Given the description of an element on the screen output the (x, y) to click on. 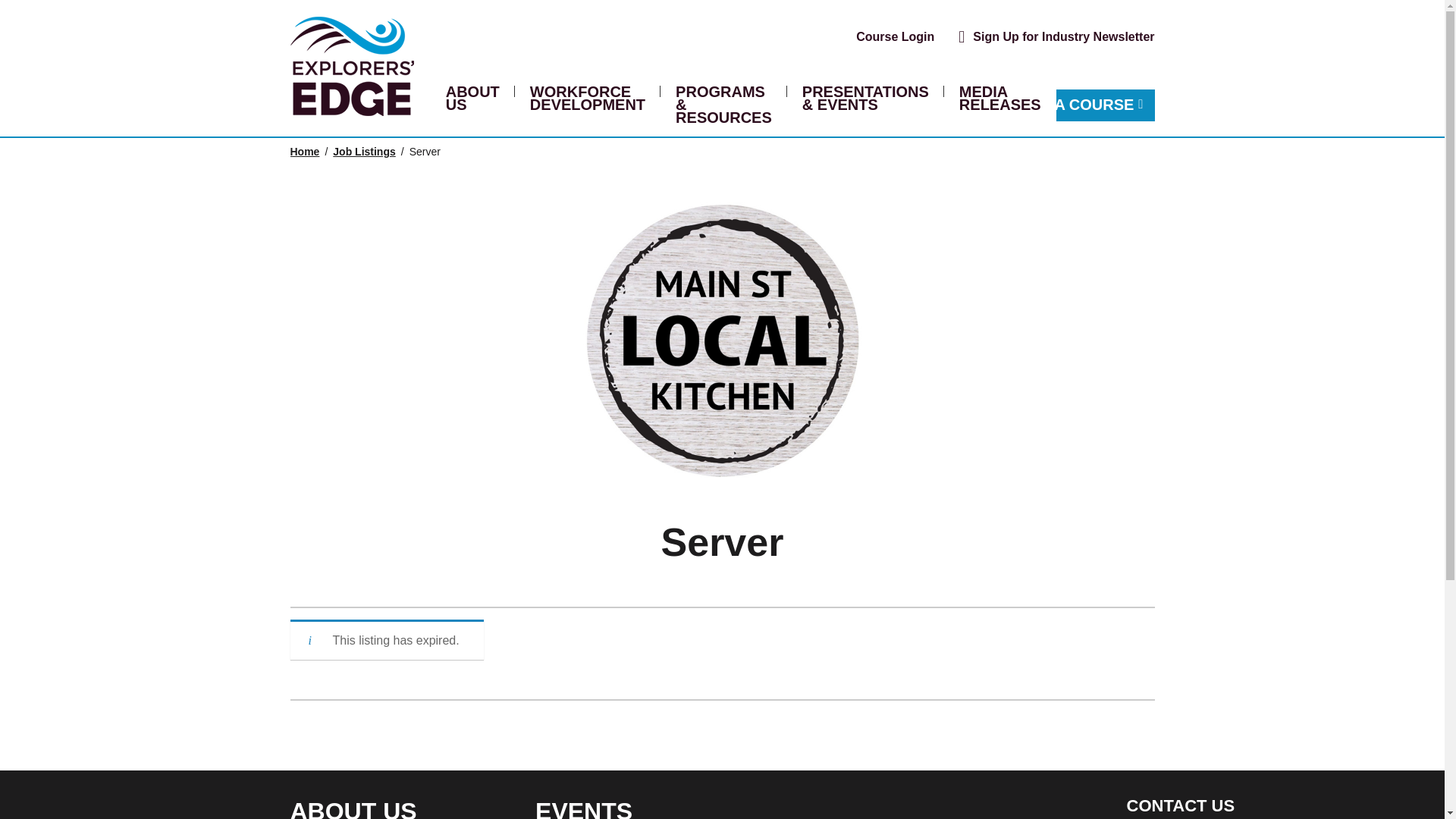
MEDIA RELEASES (1000, 98)
Home (303, 151)
EVENTS (583, 808)
Course Login (895, 36)
CONTACT US (1180, 805)
WORKFORCE DEVELOPMENT (587, 98)
Sign Up for Industry Newsletter (1063, 36)
TAKE A COURSE (1076, 105)
ABOUT US (352, 808)
ABOUT US (472, 98)
Job Listings (363, 151)
